Given the description of an element on the screen output the (x, y) to click on. 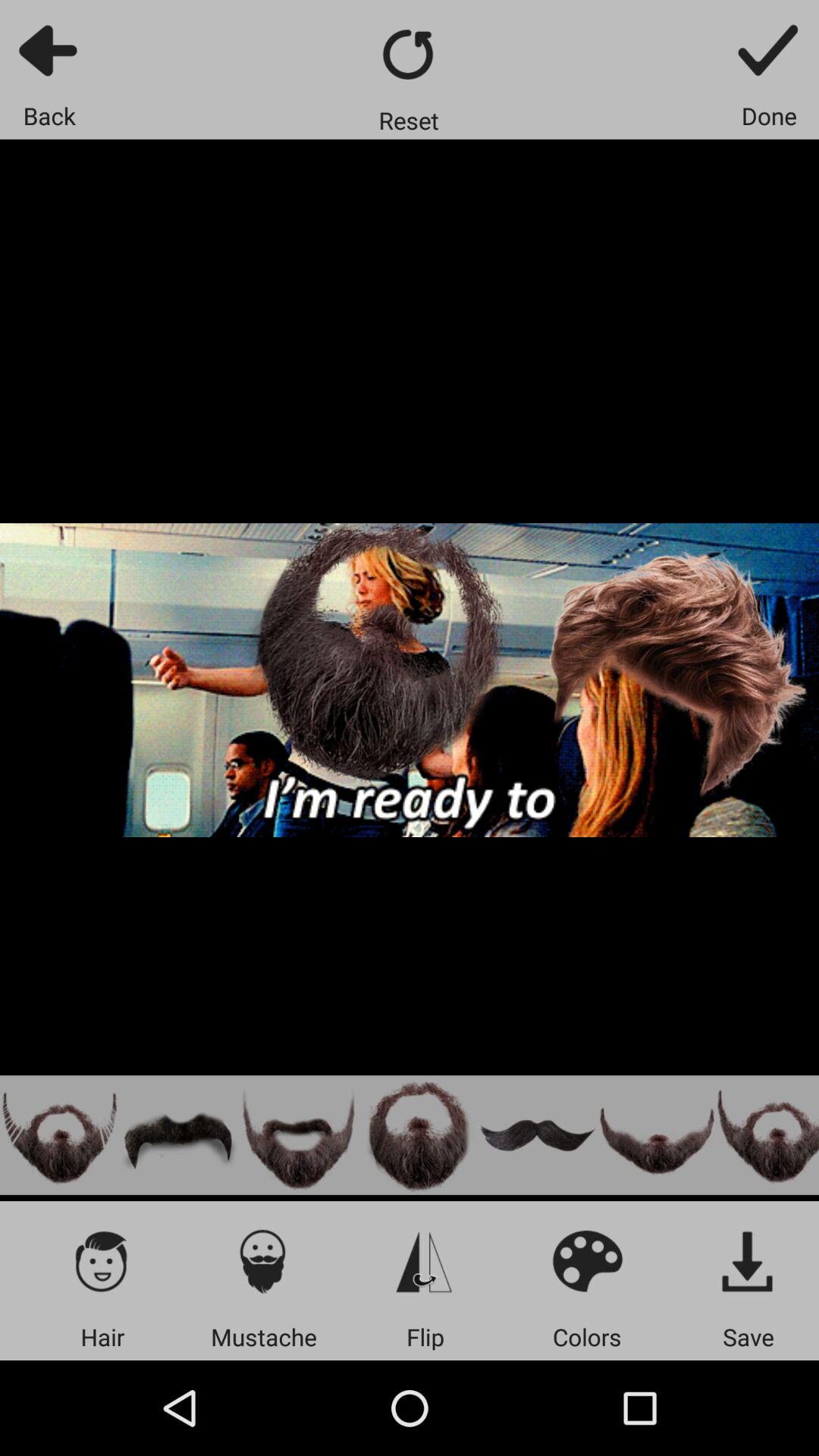
select the colors (586, 1260)
